Given the description of an element on the screen output the (x, y) to click on. 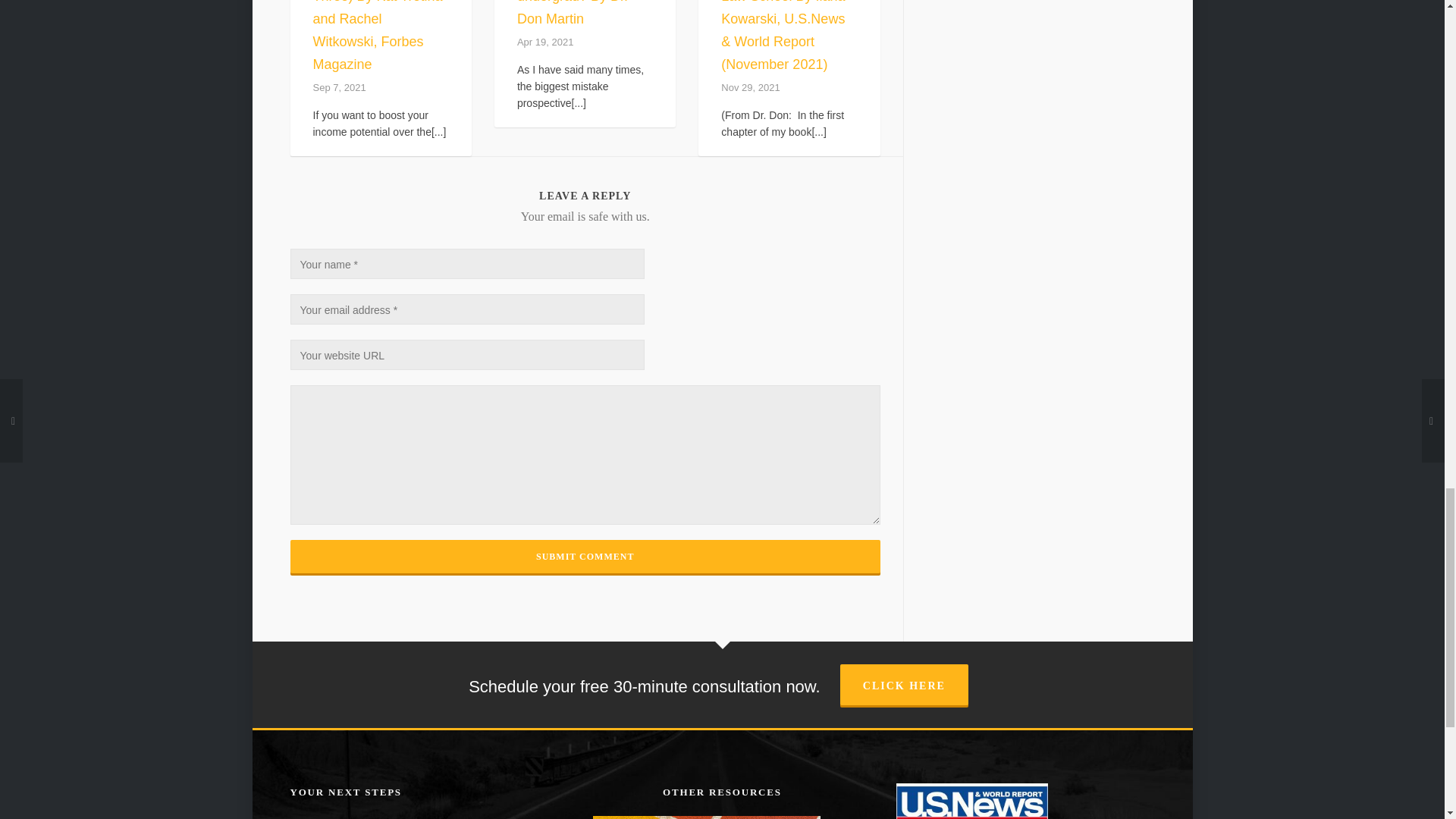
Submit Comment (584, 556)
Submit Comment (584, 556)
